Given the description of an element on the screen output the (x, y) to click on. 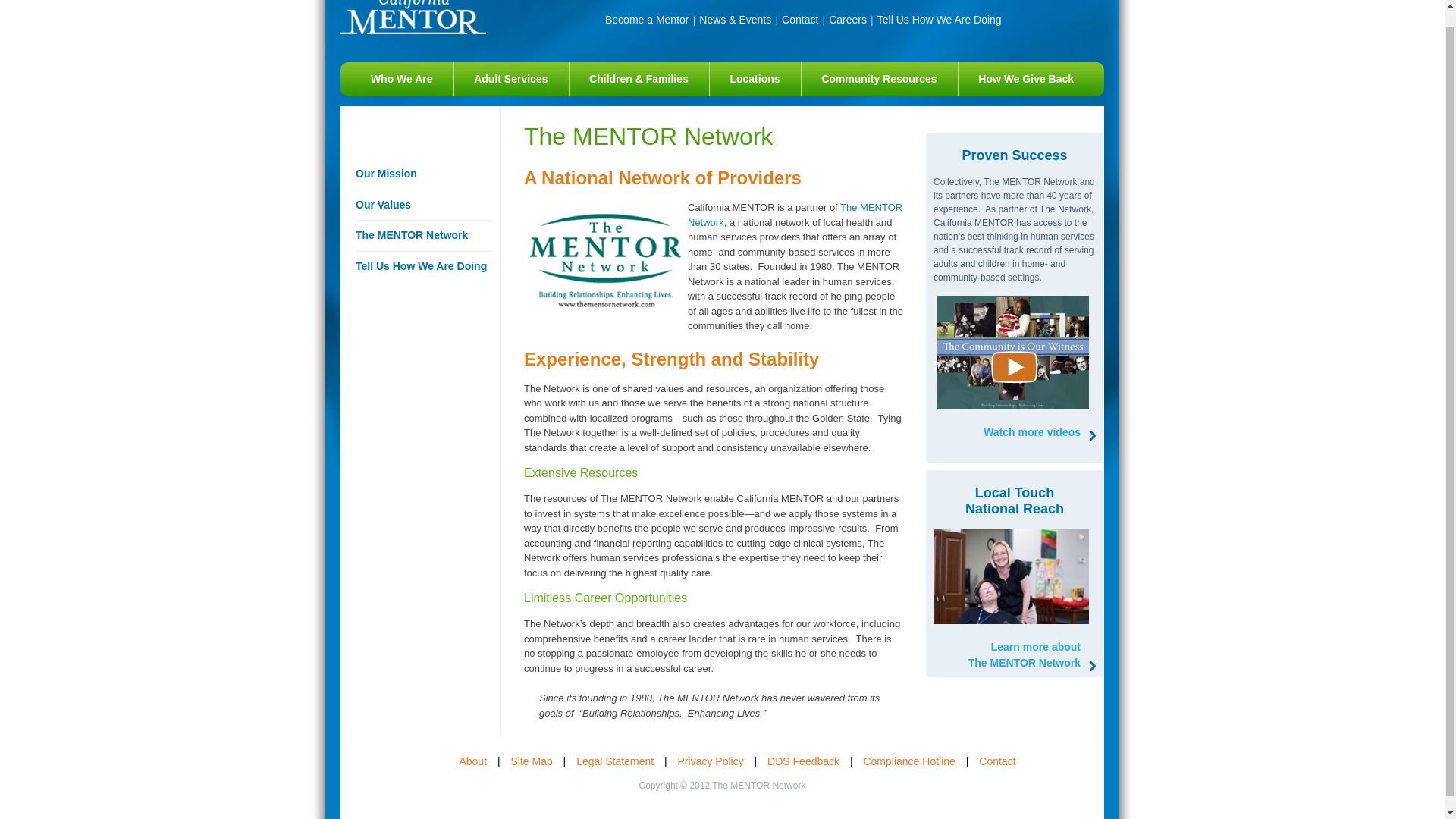
Watch more videos (1025, 432)
Adult Services (510, 79)
Careers (847, 19)
Community Resources (879, 79)
Our Values (423, 205)
Our Mission (423, 174)
Locations (754, 79)
How We Give Back (1026, 79)
Become a Mentor (646, 19)
Tell Us How We Are Doing (423, 266)
Who We Are (401, 79)
Contact (1025, 654)
The MENTOR Network (799, 19)
Tell Us How We Are Doing (794, 214)
